Given the description of an element on the screen output the (x, y) to click on. 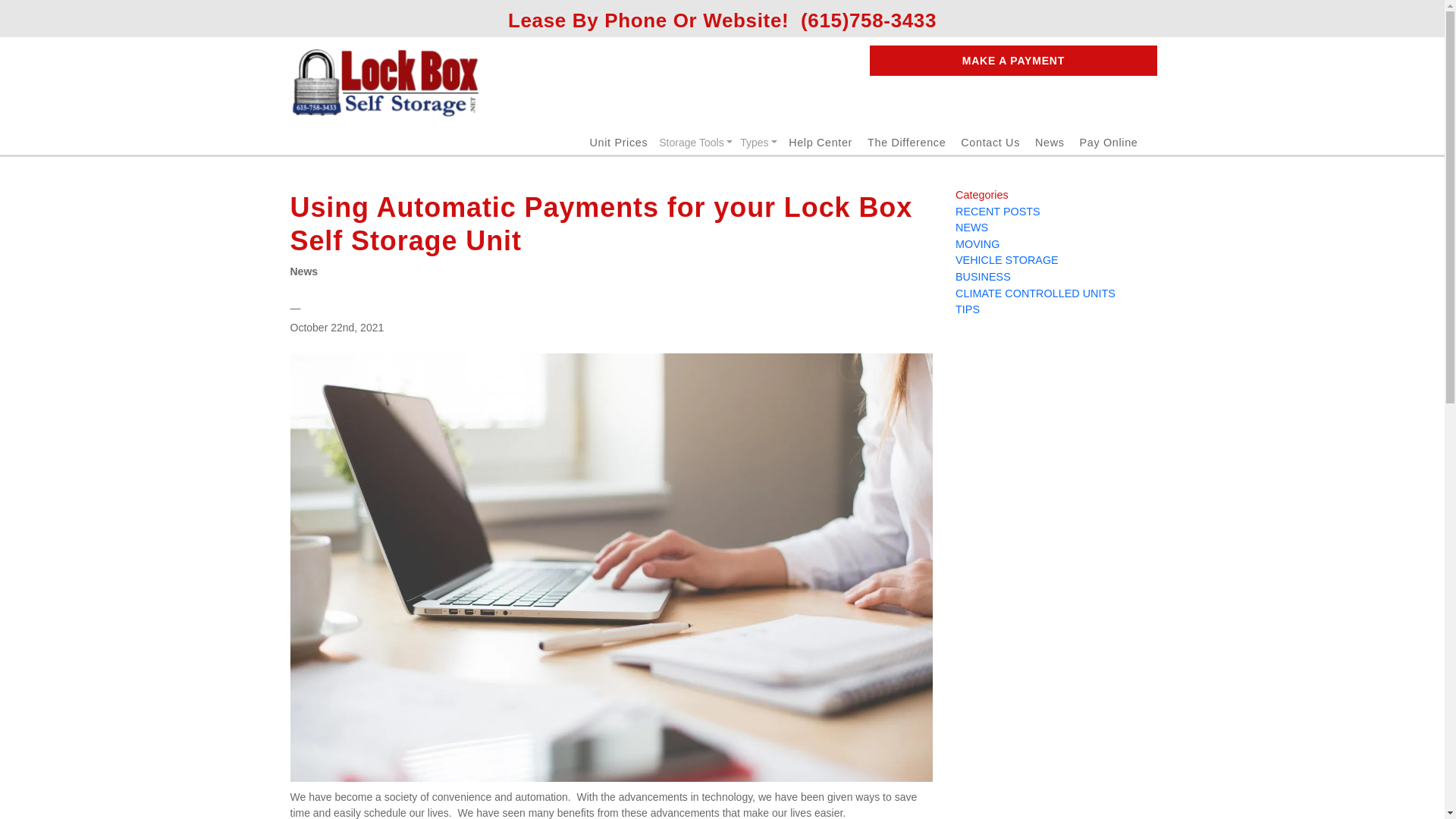
The Difference (905, 142)
Storage Tools (695, 142)
BUSINESS (982, 276)
VEHICLE STORAGE (1006, 259)
MAKE A PAYMENT (1012, 60)
CLIMATE CONTROLLED UNITS (1035, 293)
TIPS (967, 309)
Pay Online (1109, 142)
NEWS (971, 227)
Lock Box Self Storage logo (385, 83)
Help Center (820, 142)
News (1049, 142)
RECENT POSTS (998, 211)
Contact Us (990, 142)
MOVING (976, 244)
